Given the description of an element on the screen output the (x, y) to click on. 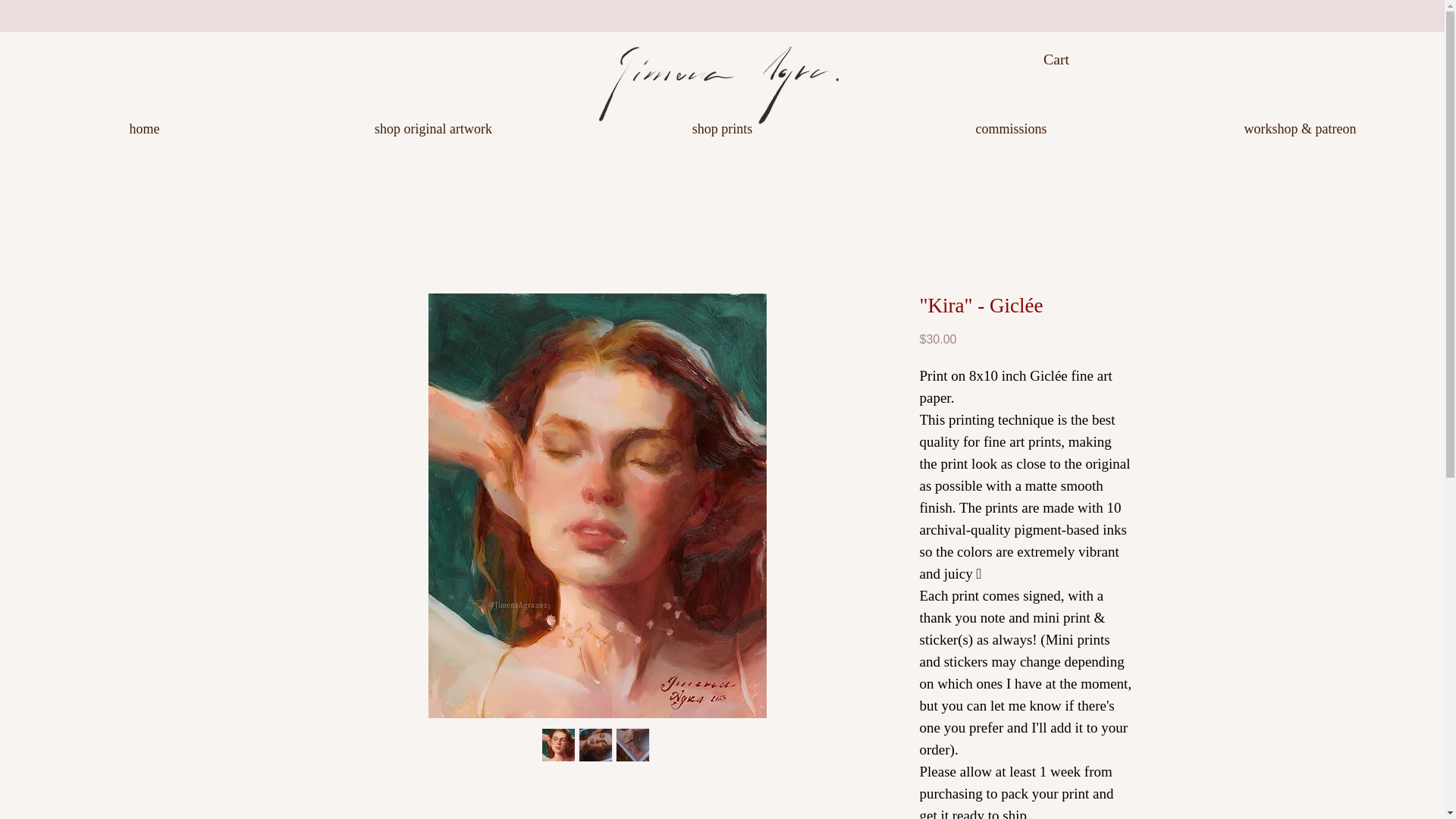
Cart (1068, 58)
commissions (1011, 128)
shop prints (722, 128)
shop original artwork (433, 128)
Cart (1068, 58)
home (144, 128)
